Given the description of an element on the screen output the (x, y) to click on. 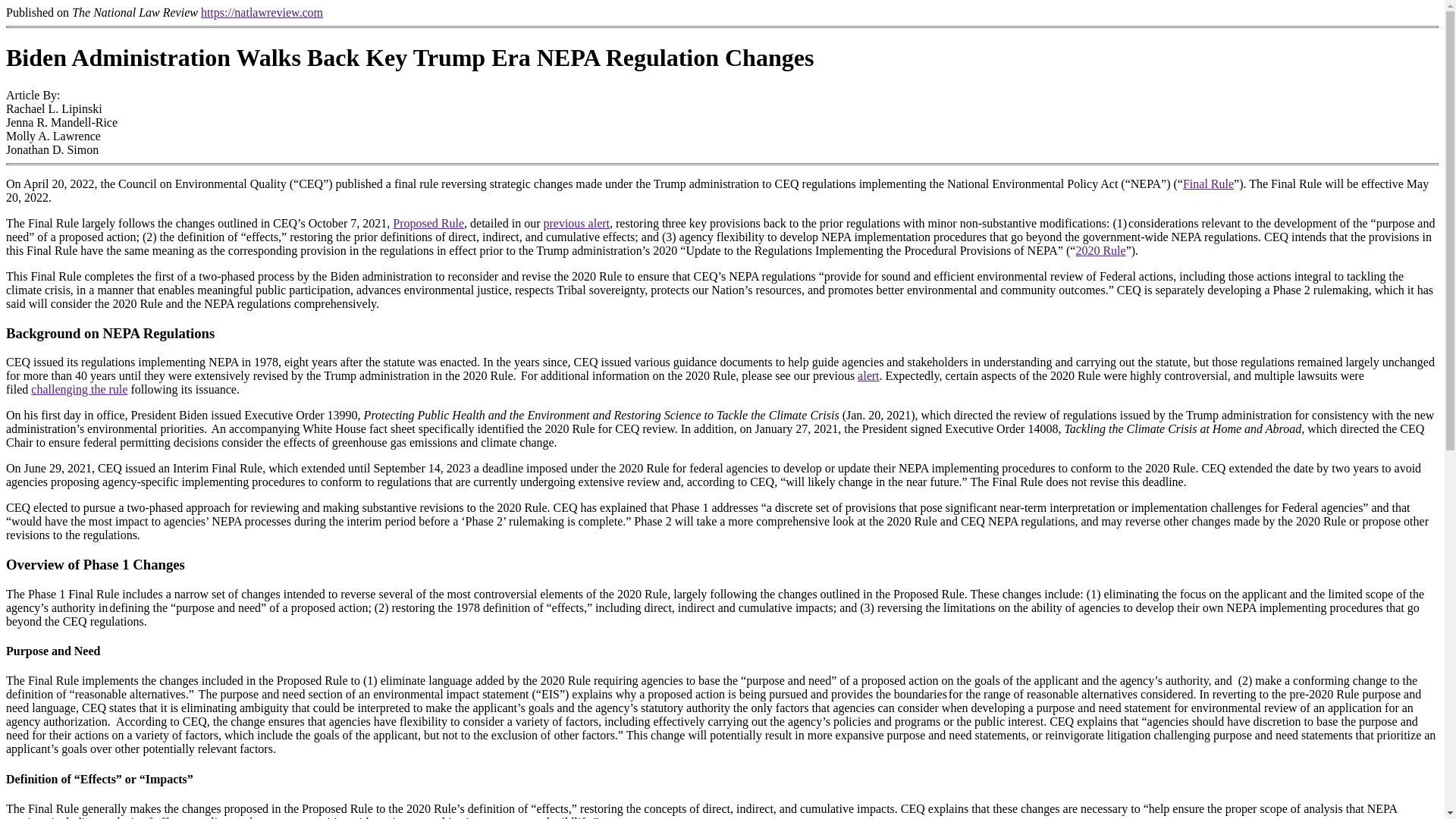
challenging the rule (79, 389)
Proposed Rule (428, 223)
alert (868, 375)
previous alert (576, 223)
Final Rule (1207, 183)
2020 Rule (1100, 250)
